Given the description of an element on the screen output the (x, y) to click on. 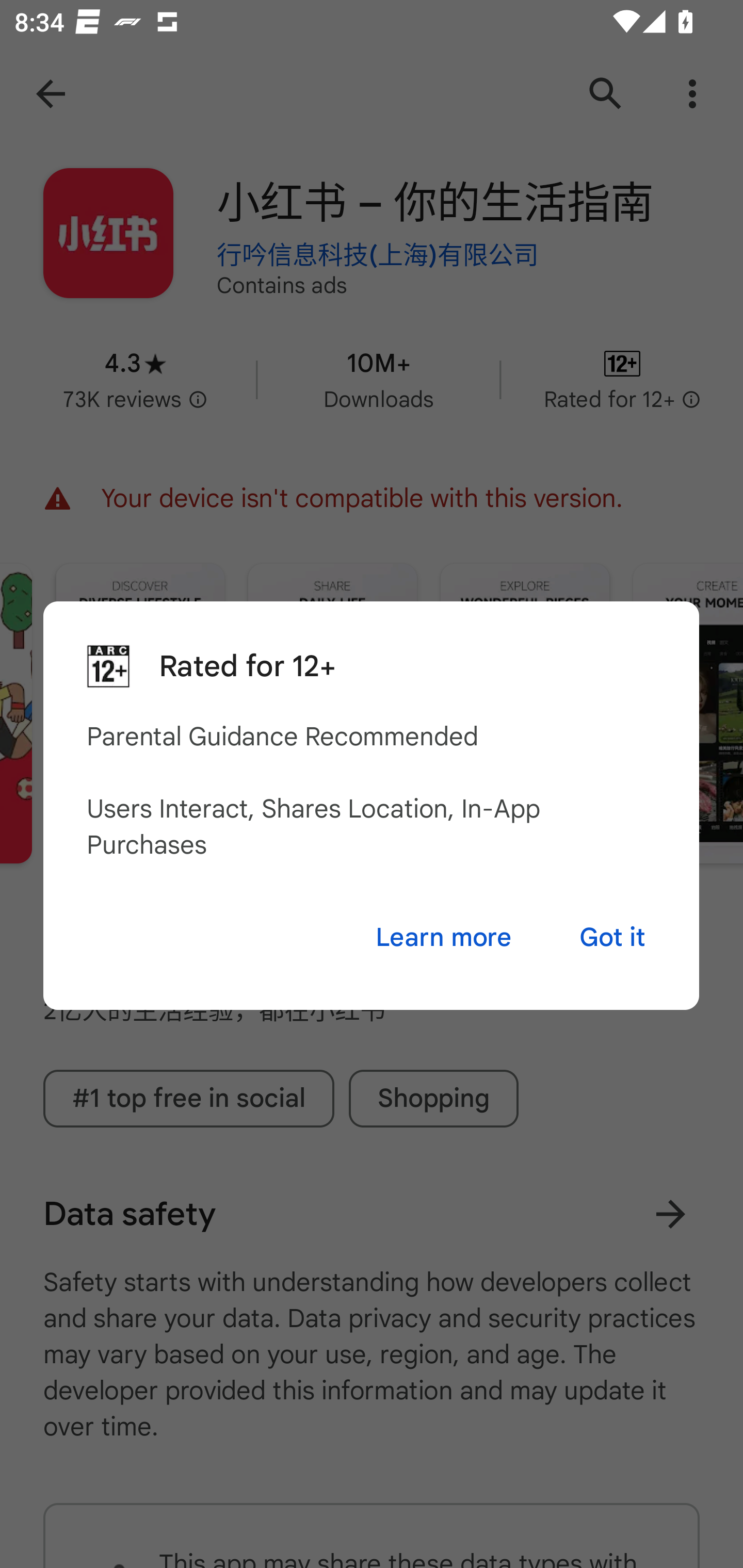
Learn more (443, 937)
Got it (612, 937)
